Given the description of an element on the screen output the (x, y) to click on. 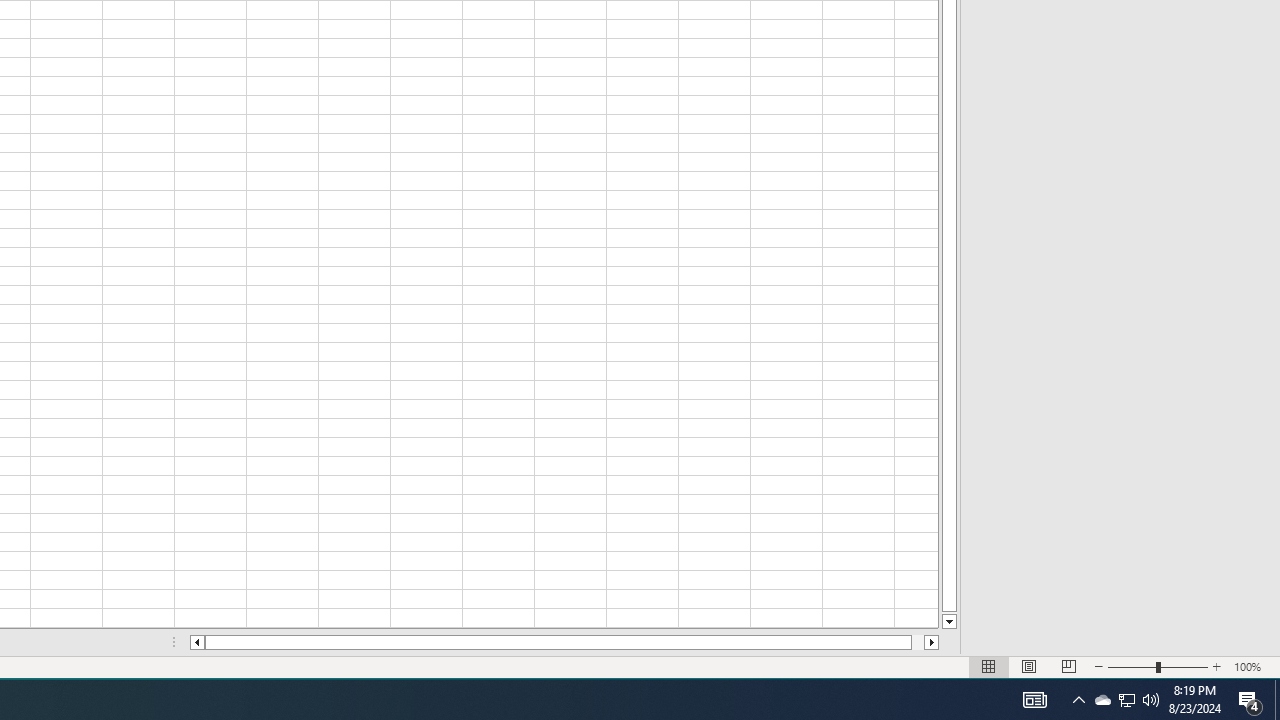
Notification Chevron (1078, 699)
Page Break Preview (1069, 667)
Show desktop (1277, 699)
Action Center, 4 new notifications (1250, 699)
